Given the description of an element on the screen output the (x, y) to click on. 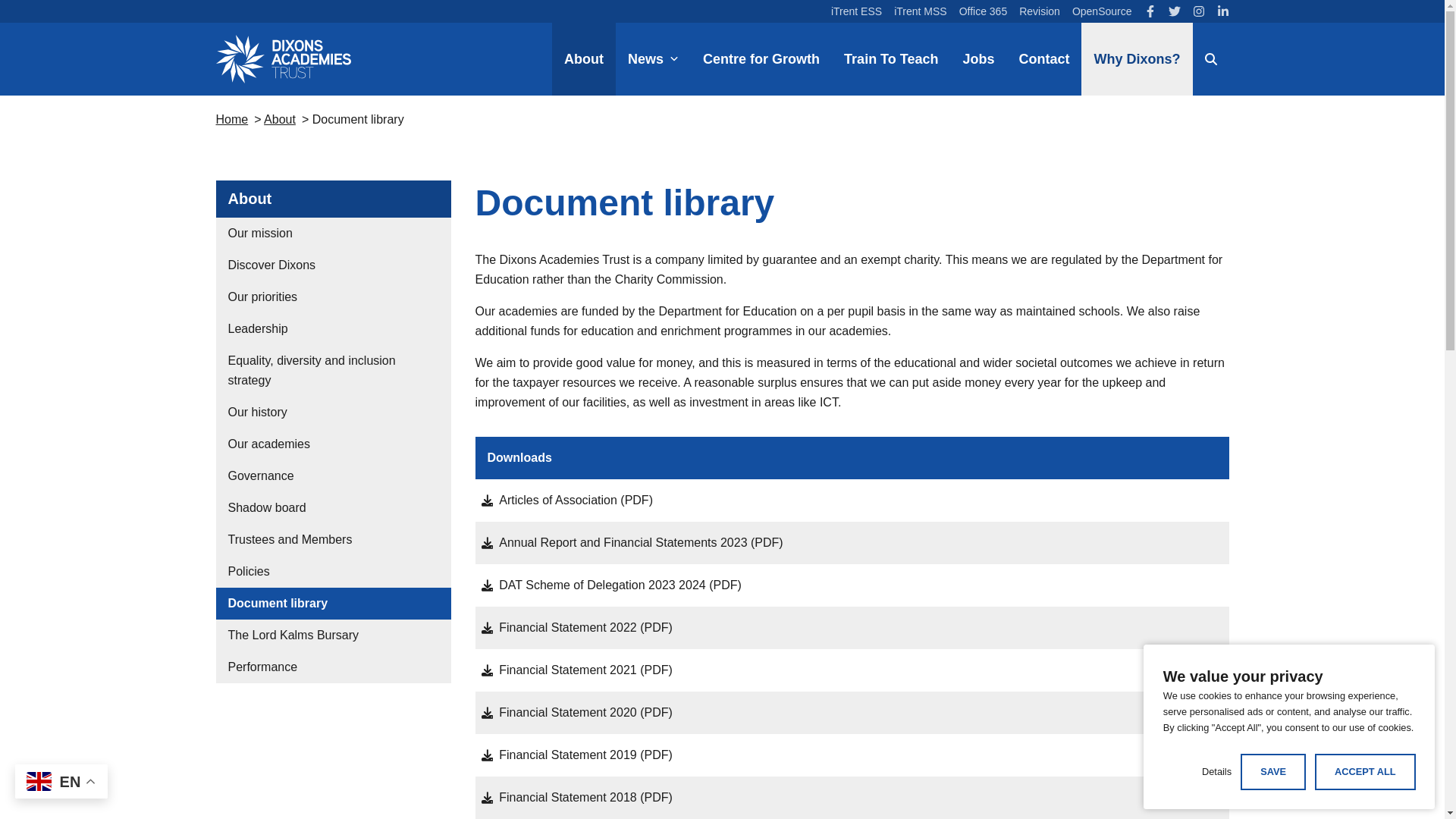
Home (231, 119)
Train To Teach (890, 58)
OpenSource (1101, 11)
SAVE (1273, 771)
Contact (1043, 58)
iTrent ESS (856, 11)
Office 365 (983, 11)
News (652, 58)
Why Dixons? (1136, 58)
ACCEPT ALL (1364, 771)
